Given the description of an element on the screen output the (x, y) to click on. 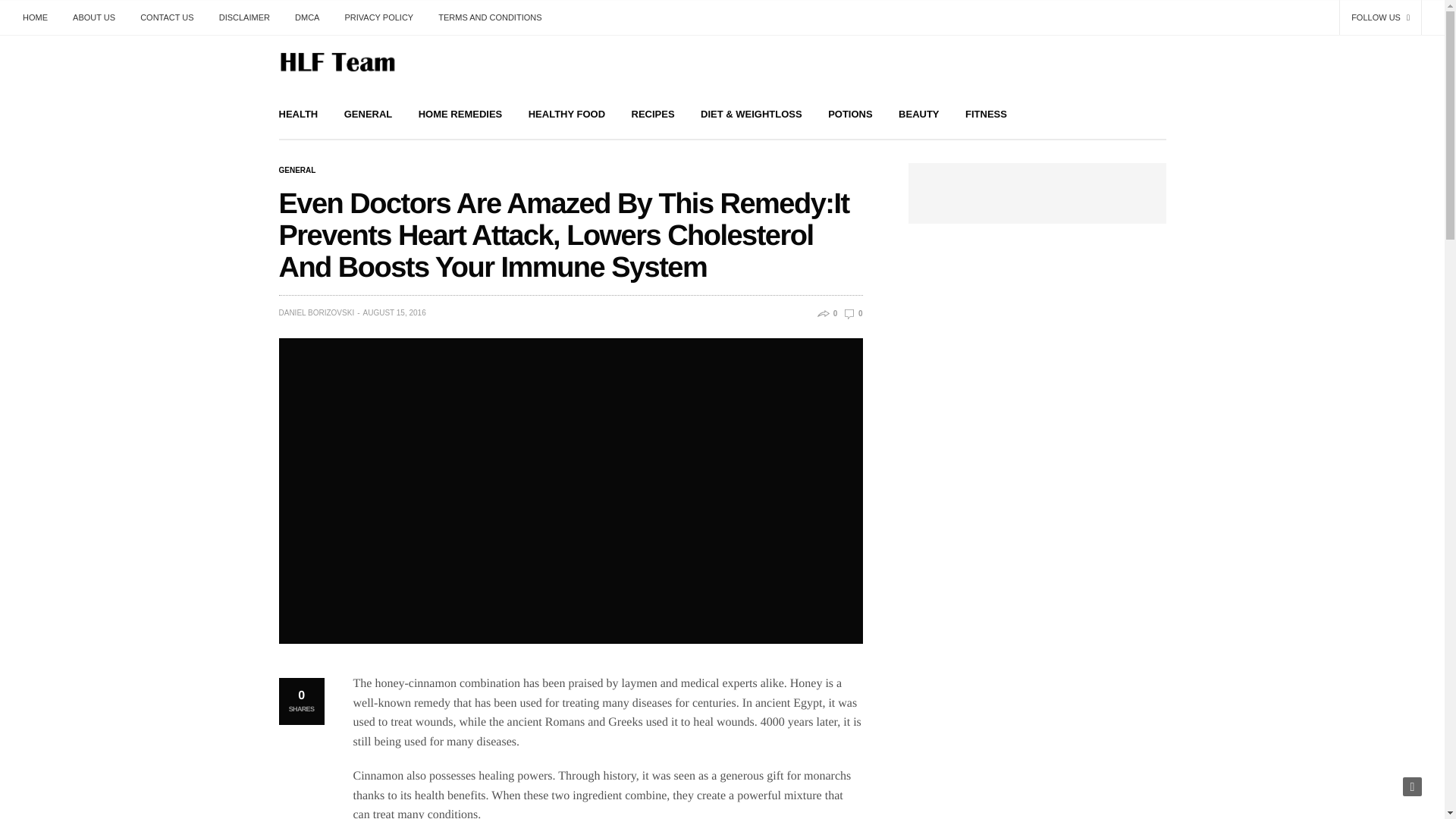
GENERAL (297, 170)
FOLLOW US (1380, 17)
DMCA (306, 17)
CONTACT US (167, 17)
GENERAL (368, 113)
0 (852, 313)
BEAUTY (918, 113)
ABOUT US (93, 17)
HEALTHY FOOD (566, 113)
DANIEL BORIZOVSKI (317, 312)
HOME REMEDIES (460, 113)
Posts by Daniel Borizovski (317, 312)
HOME (41, 17)
DISCLAIMER (244, 17)
